Given the description of an element on the screen output the (x, y) to click on. 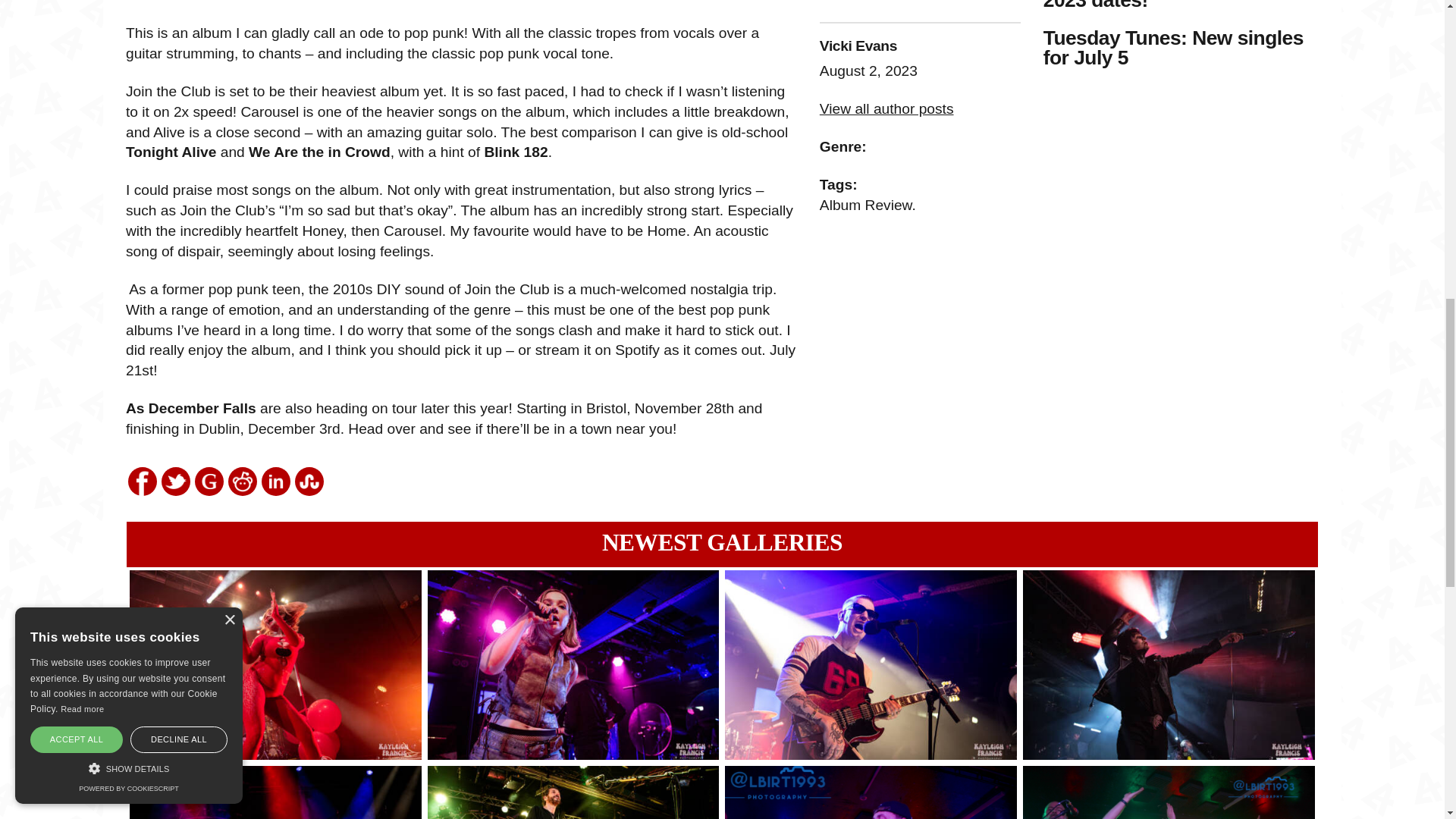
Search (94, 4)
View all author posts (886, 108)
View all author posts (886, 108)
Album Review (865, 204)
